Given the description of an element on the screen output the (x, y) to click on. 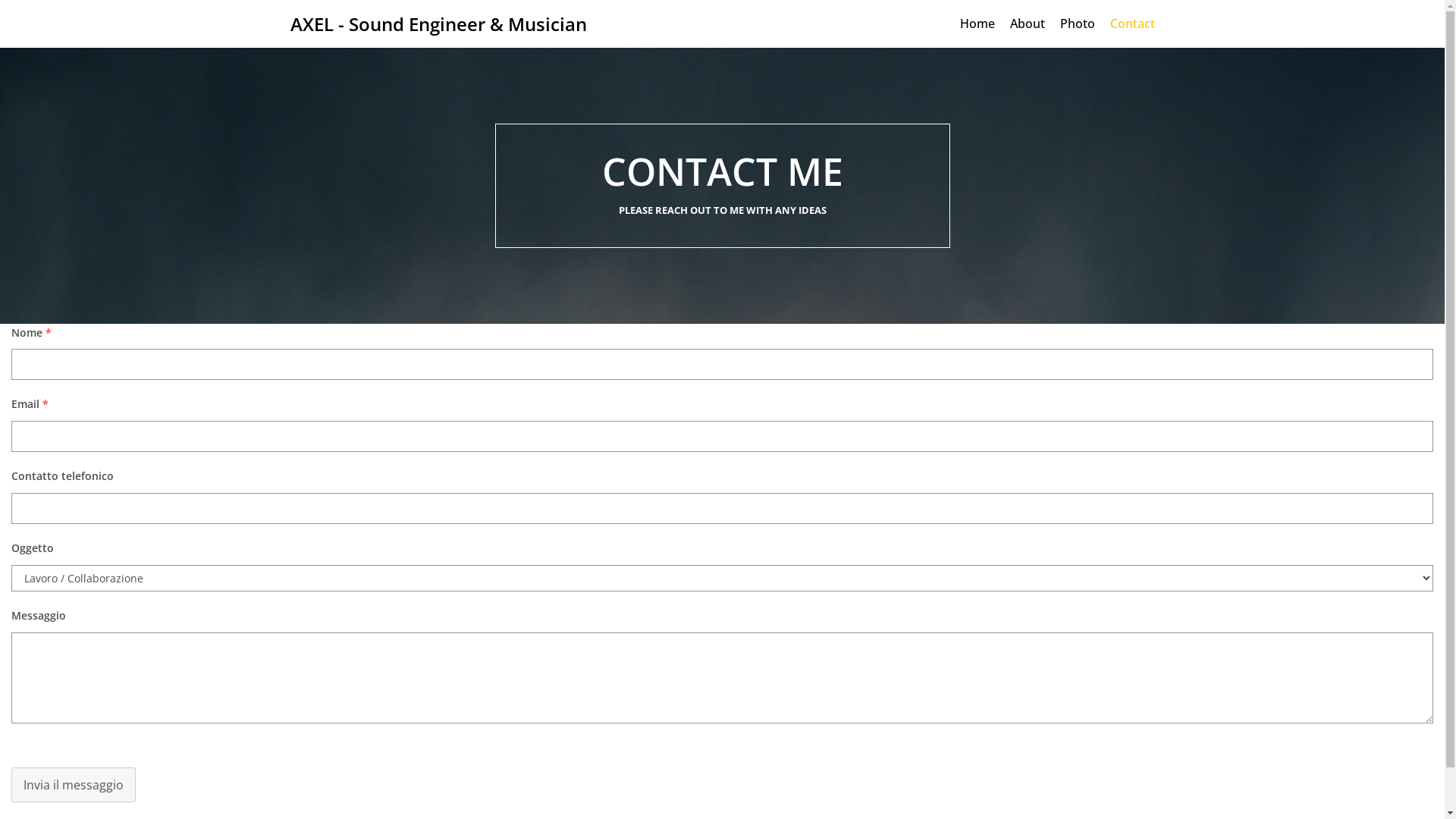
Vai al contenuto Element type: text (11, 31)
Contact Element type: text (1132, 24)
Invia il messaggio Element type: text (73, 784)
Photo Element type: text (1077, 24)
AXEL - Sound Engineer & Musician Element type: text (437, 23)
Home Element type: text (977, 24)
About Element type: text (1027, 24)
